Given the description of an element on the screen output the (x, y) to click on. 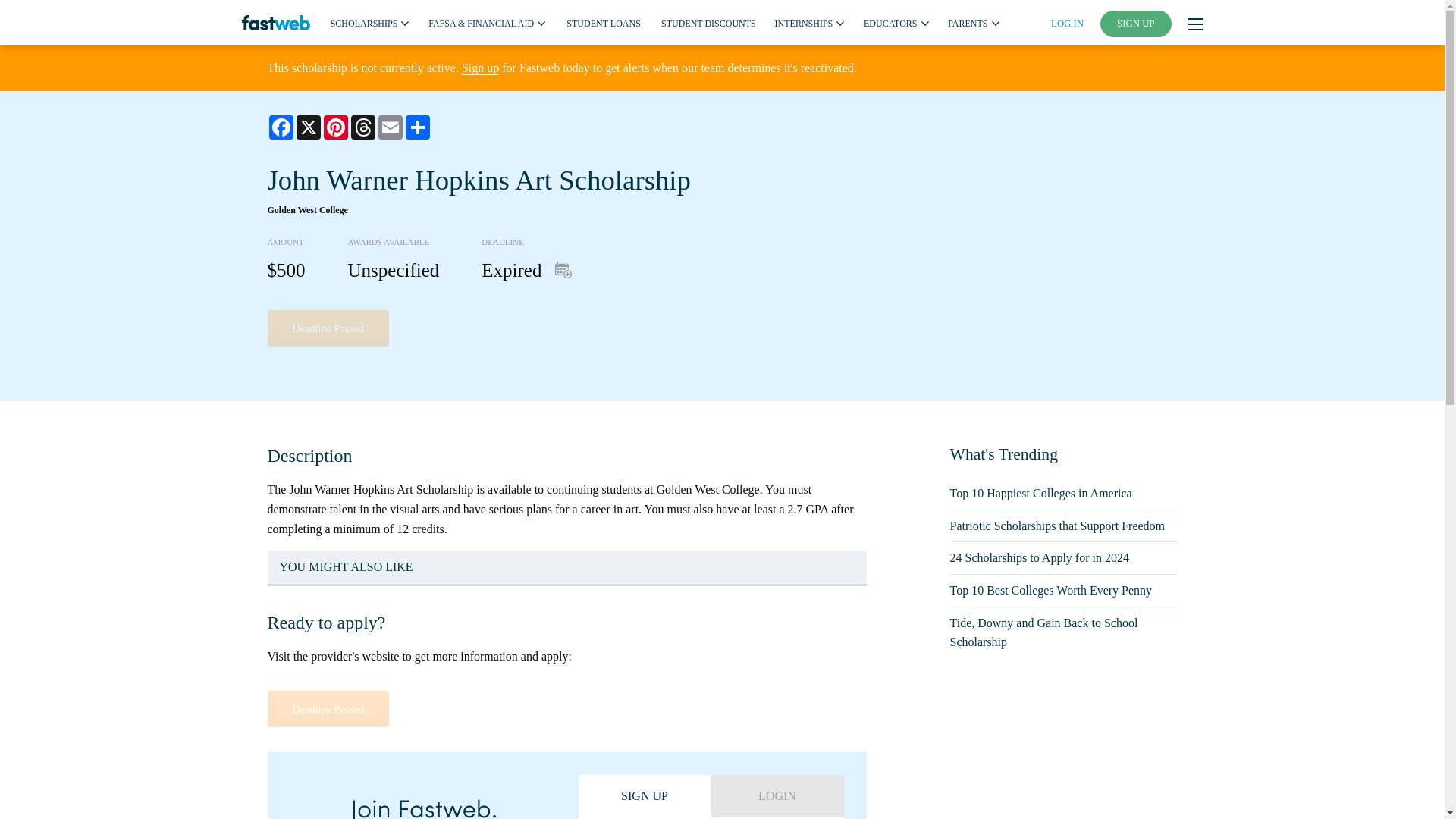
STUDENT LOANS (603, 22)
LOG IN (1067, 23)
SIGN UP (1136, 23)
STUDENT DISCOUNTS (708, 22)
